Given the description of an element on the screen output the (x, y) to click on. 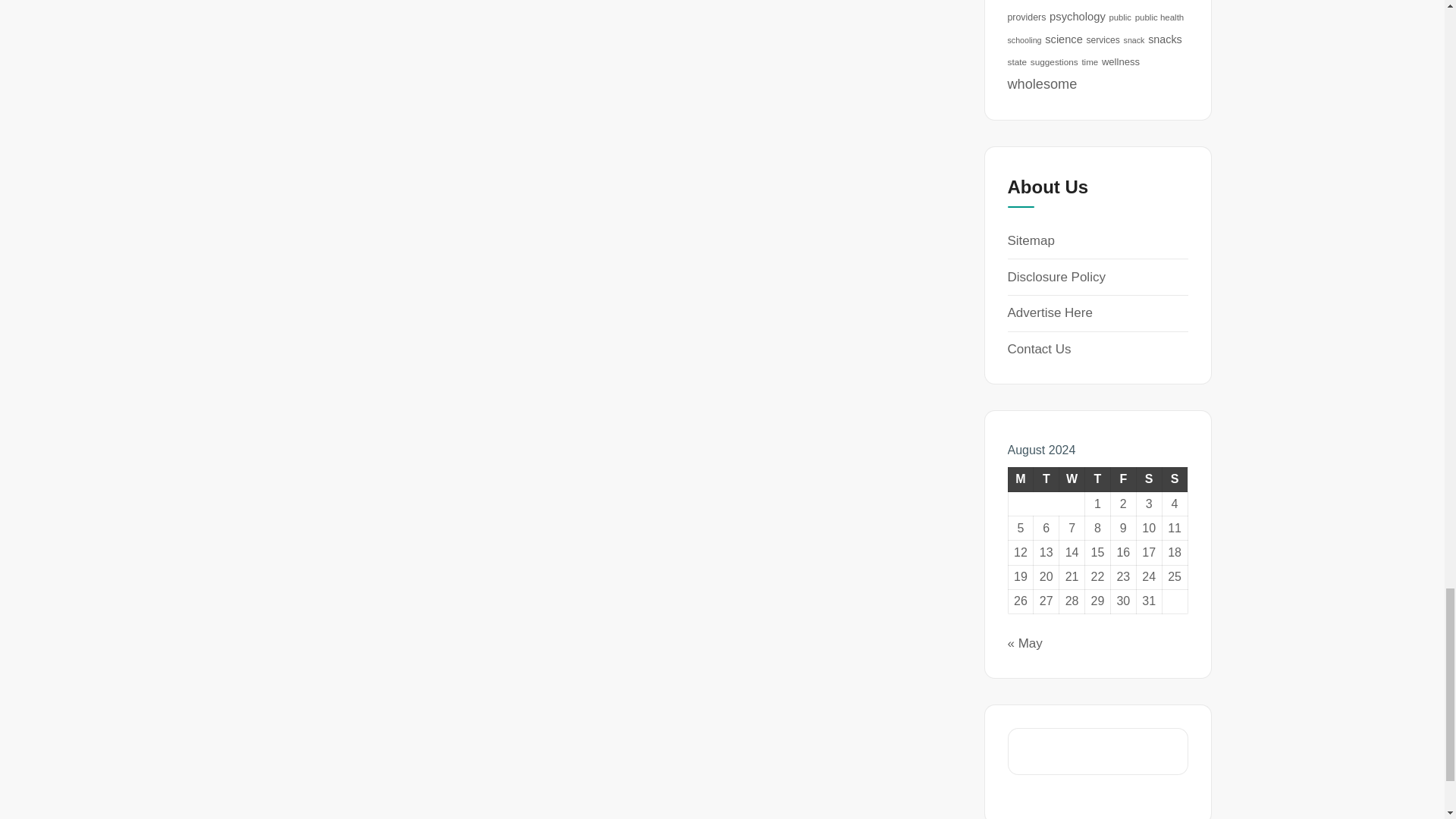
Sunday (1174, 478)
Thursday (1097, 478)
Wednesday (1071, 478)
Tuesday (1046, 478)
Saturday (1148, 478)
Monday (1020, 478)
Friday (1122, 478)
